Given the description of an element on the screen output the (x, y) to click on. 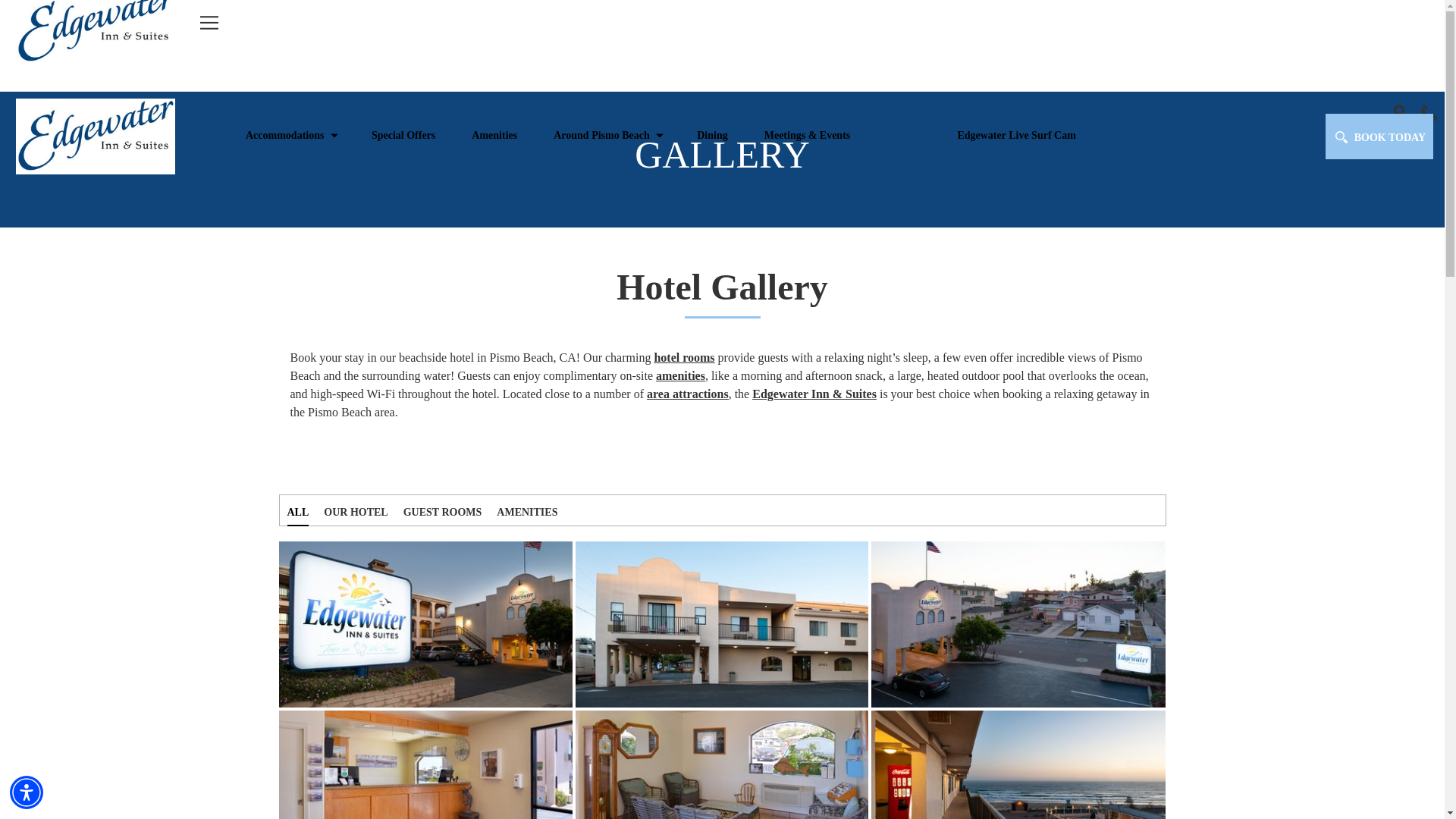
Special Offers (402, 133)
Edgewater Live Surf Cam (1016, 133)
Gallery (903, 133)
Accessibility Menu (26, 792)
BOOK TODAY (1378, 135)
Dining (711, 133)
Amenities (493, 133)
